Given the description of an element on the screen output the (x, y) to click on. 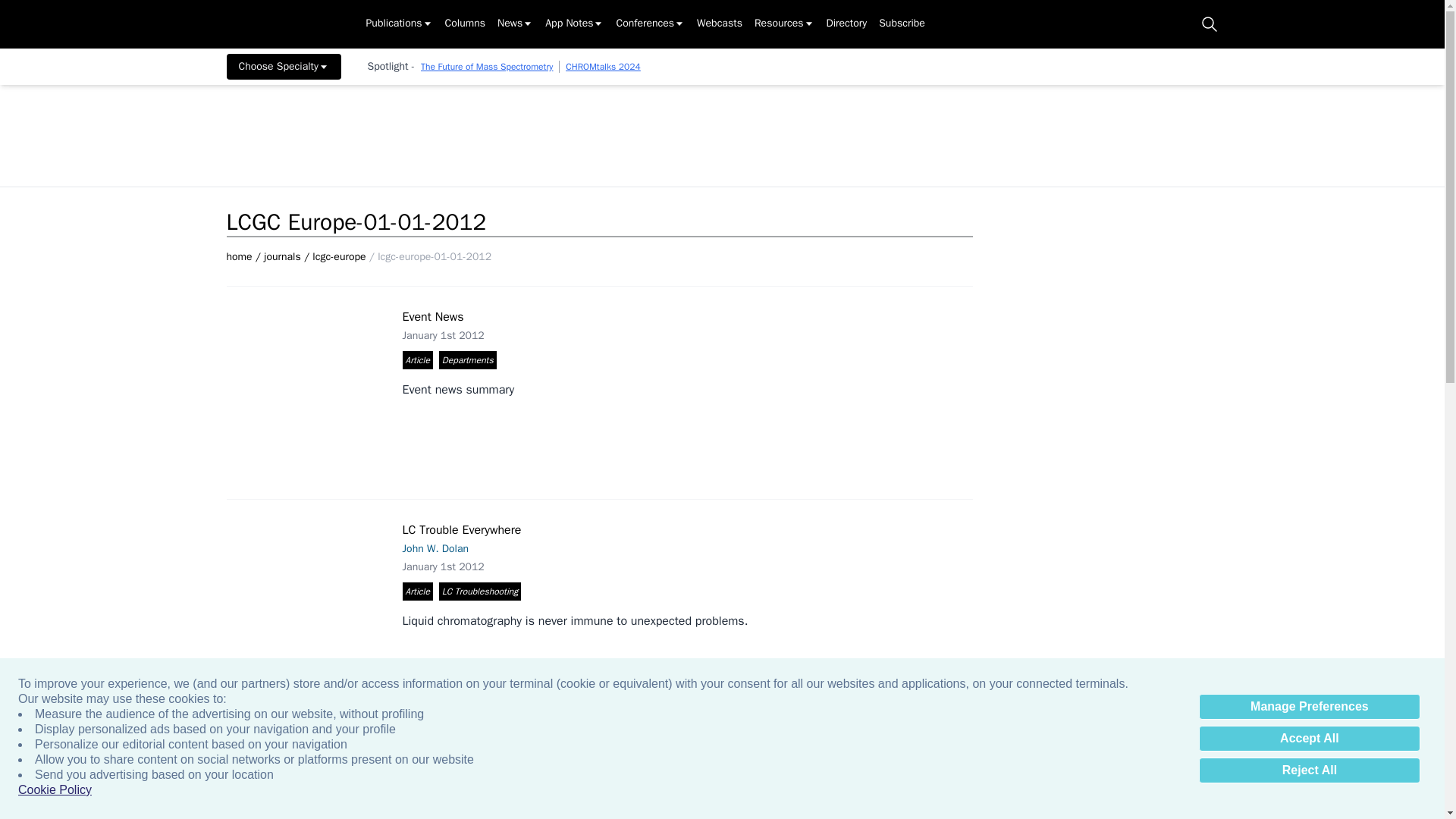
Accept All (1309, 738)
Publications (398, 23)
Columns (464, 23)
Manage Preferences (1309, 706)
App Notes (574, 23)
Cookie Policy (54, 789)
Reject All (1309, 769)
News (514, 23)
i1-755104-1408609441327.jpg (311, 386)
LC Trouble Everywhere (311, 581)
